Given the description of an element on the screen output the (x, y) to click on. 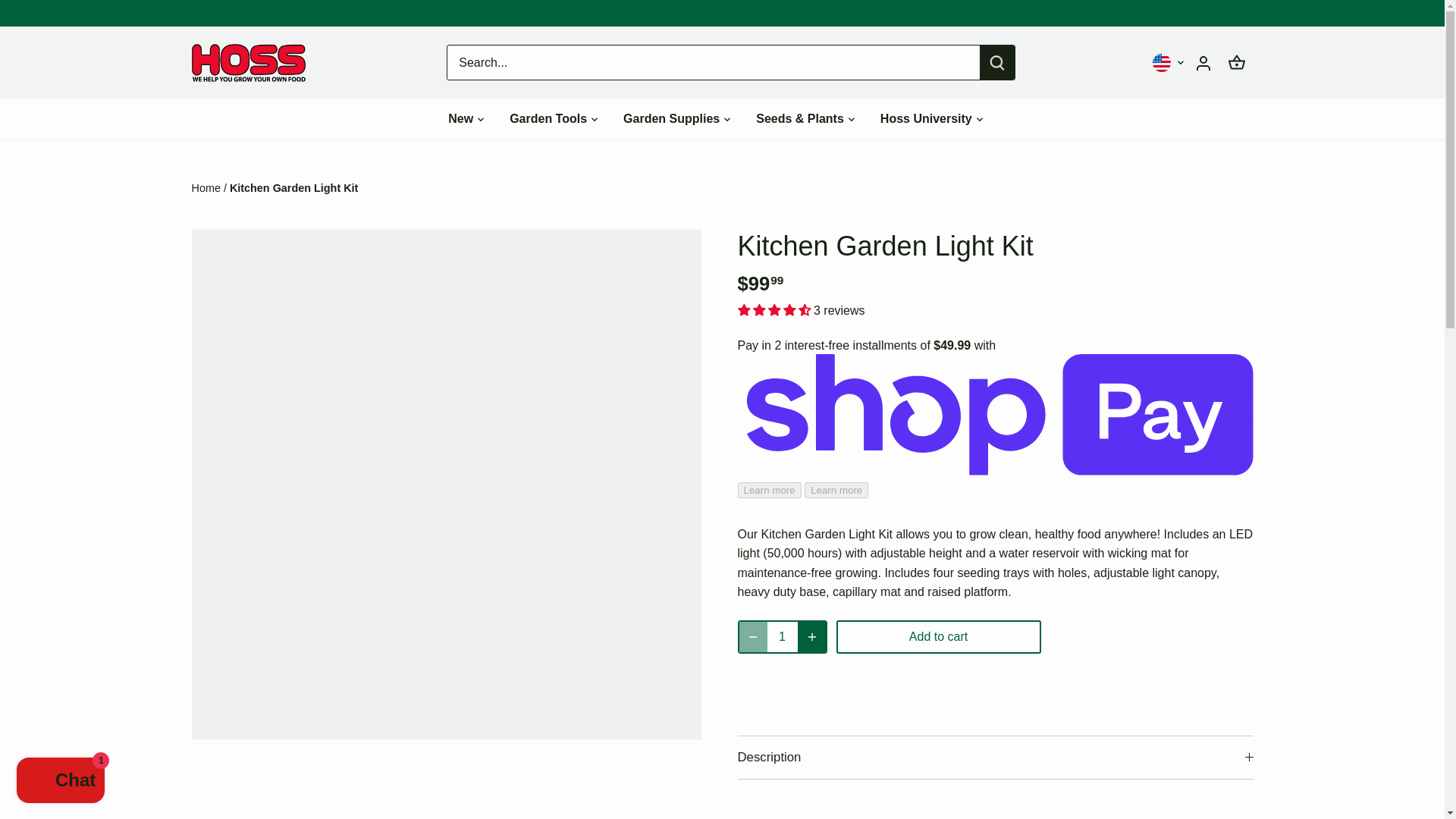
New (466, 118)
Garden Tools (547, 118)
1 (782, 636)
